Given the description of an element on the screen output the (x, y) to click on. 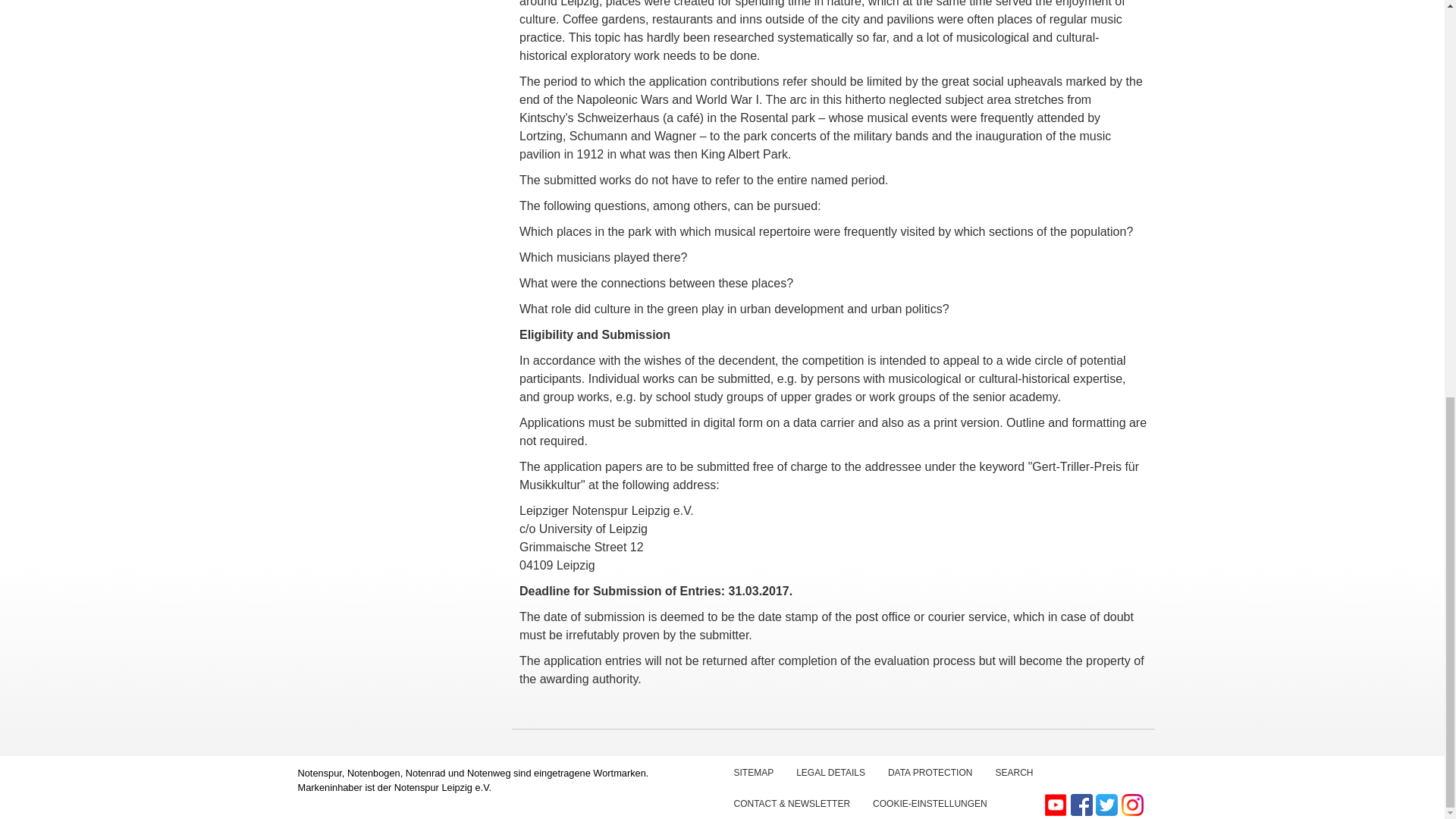
facebook - Leipziger Notenspur (1083, 803)
Instagram - Leipziger Notenspur (1131, 803)
YouTube - Leipziger Notenspur (1057, 803)
twitter - Leipziger Notenspur (1108, 803)
